Given the description of an element on the screen output the (x, y) to click on. 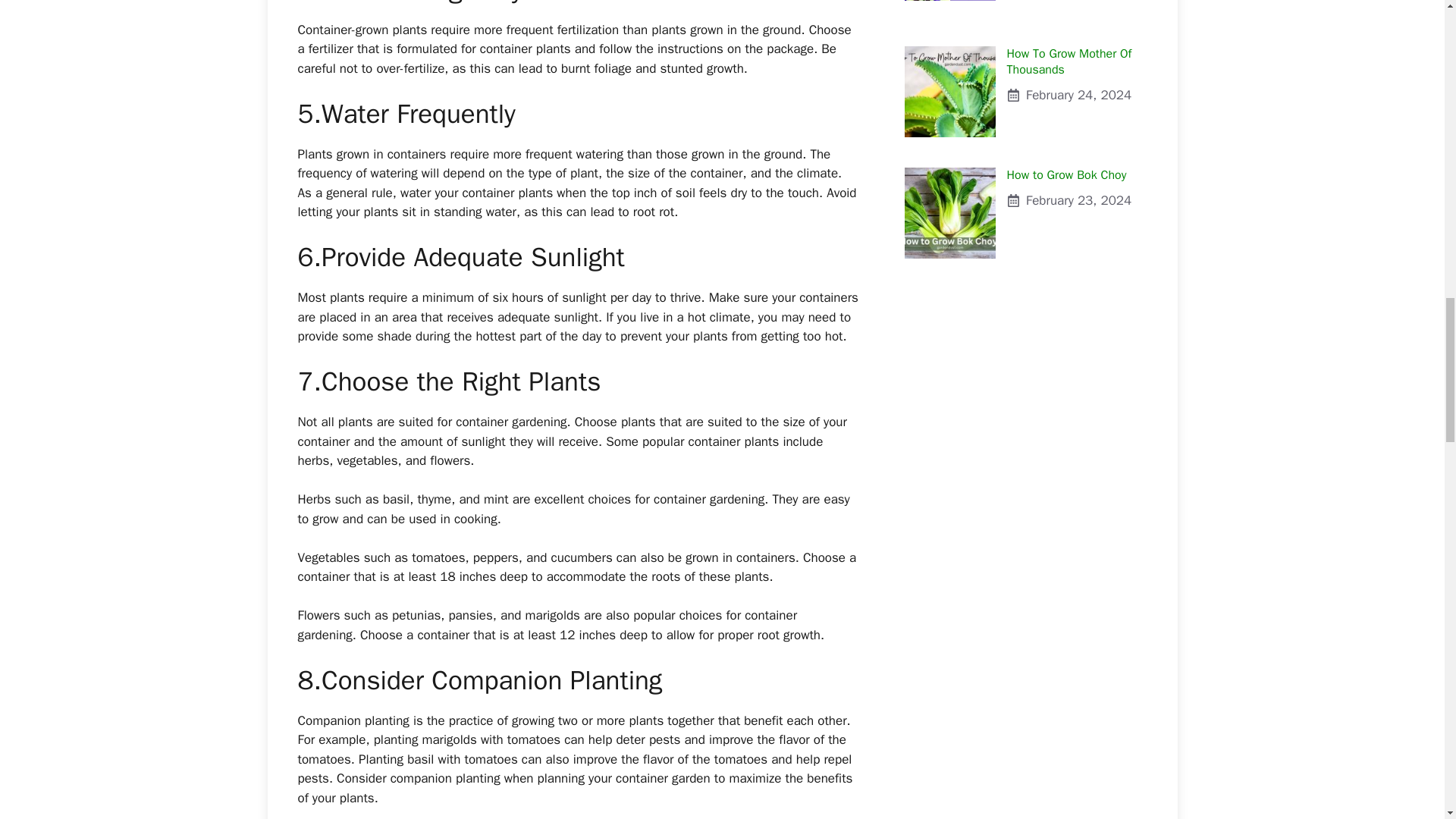
How To Grow Mother Of Thousands (1069, 60)
How to Grow Bok Choy (1025, 197)
